Given the description of an element on the screen output the (x, y) to click on. 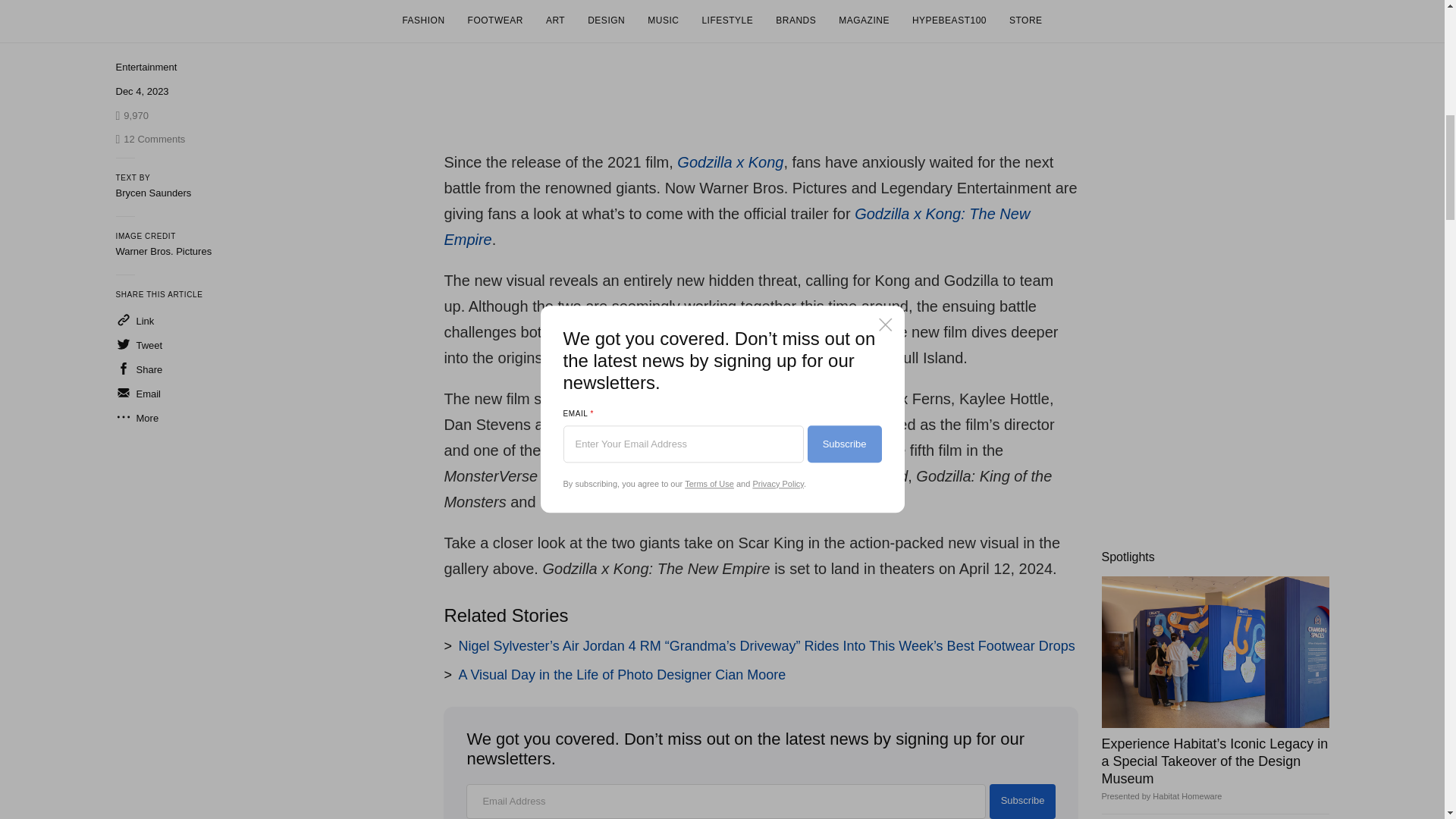
A Visual Day in the Life of Photo Designer Cian Moore (622, 674)
Godzilla x Kong: The New Empire (736, 226)
3rd party ad content (1213, 112)
Godzilla x Kong (730, 161)
